Given the description of an element on the screen output the (x, y) to click on. 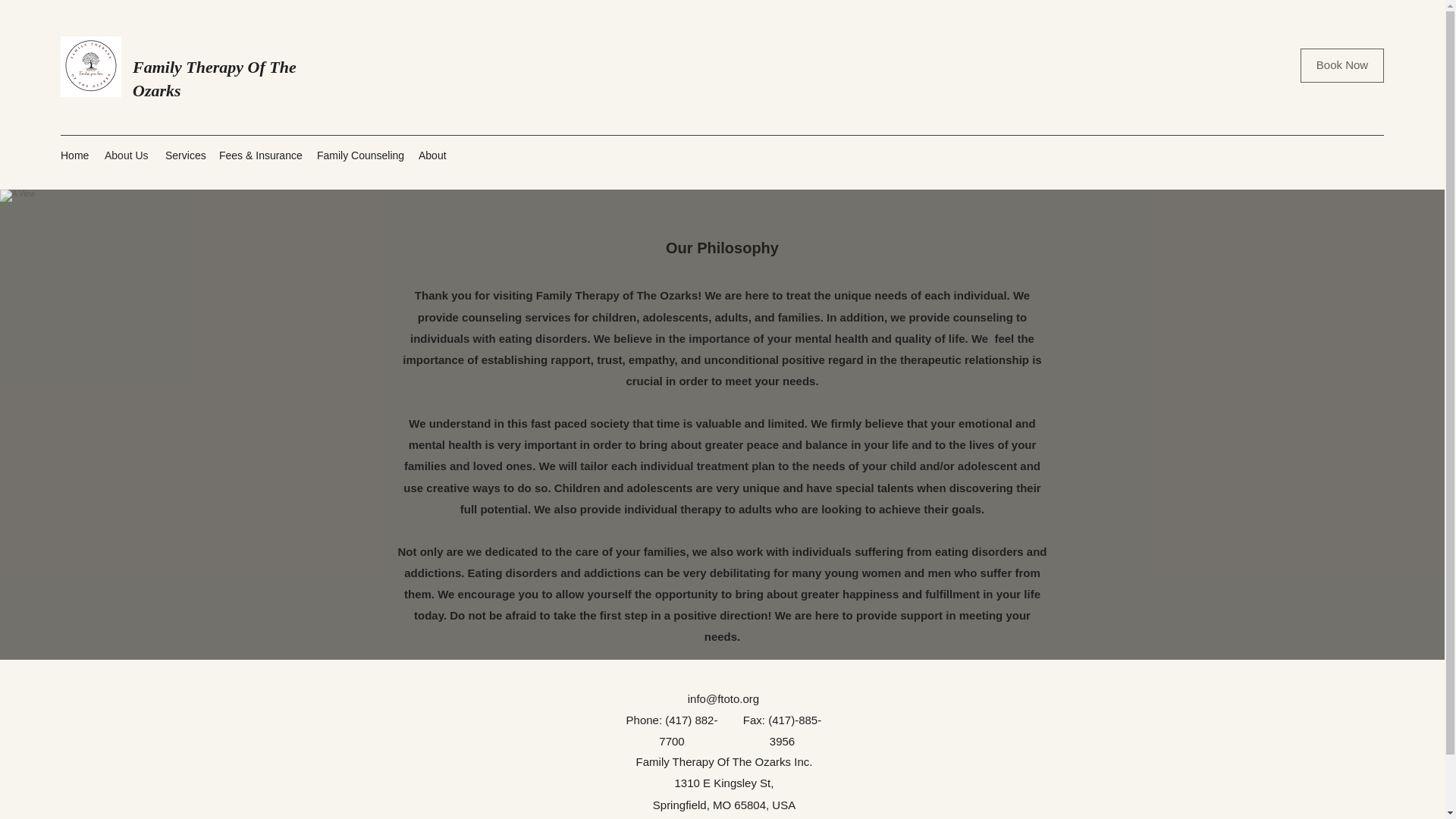
Home (74, 155)
About (433, 155)
Family Counseling (359, 155)
About Us (127, 155)
Book Now (1342, 65)
Family Therapy Of The Ozarks (214, 78)
Services (184, 155)
